Given the description of an element on the screen output the (x, y) to click on. 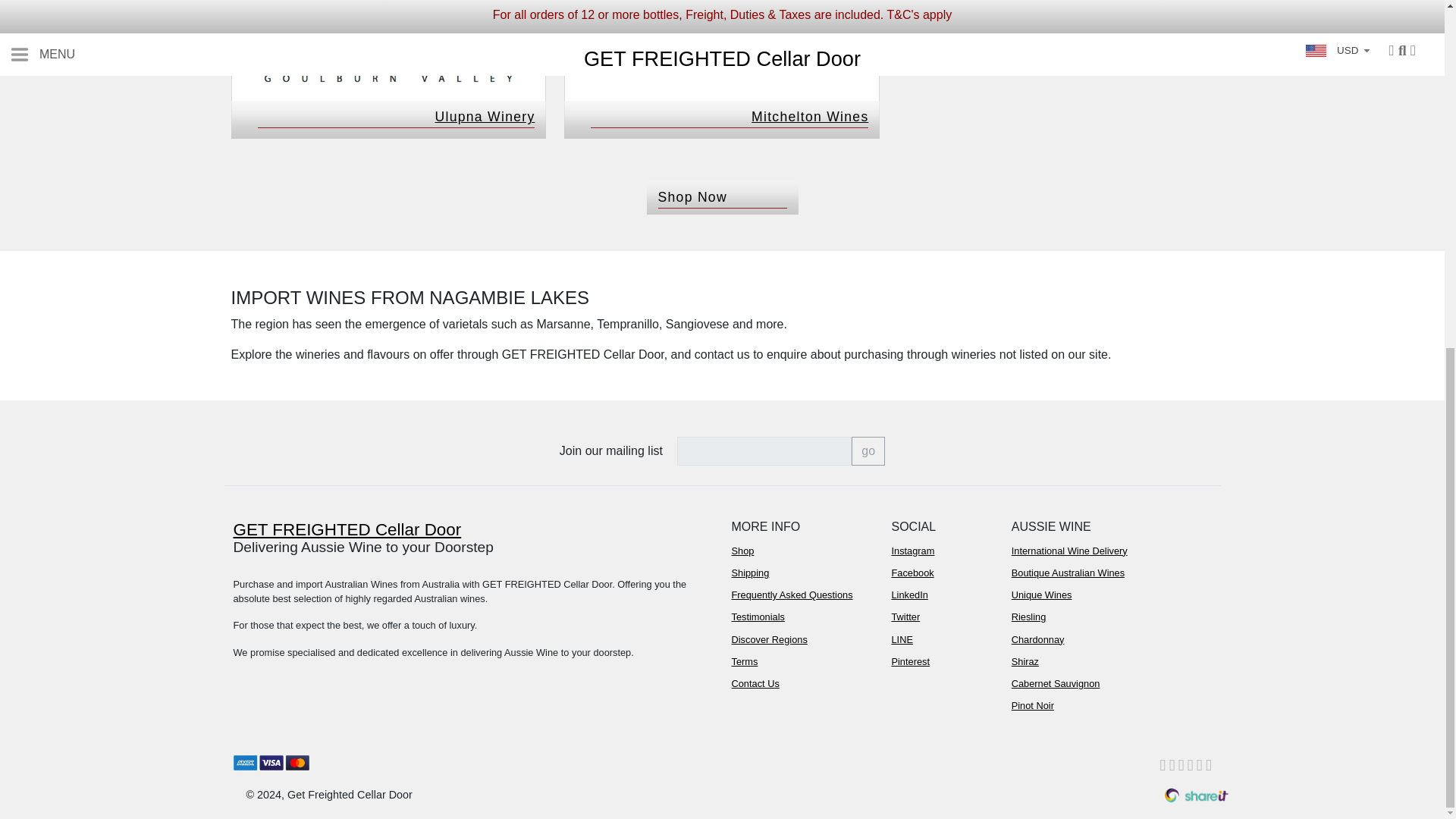
Chardonnay (1102, 639)
Shipping (801, 572)
Shiraz (1102, 661)
LINE (941, 639)
Facebook (941, 572)
GET FREIGHTED Cellar Door (472, 530)
Contact Us (801, 683)
go (868, 451)
Terms (801, 661)
Boutique Australian Wines (1102, 572)
